Given the description of an element on the screen output the (x, y) to click on. 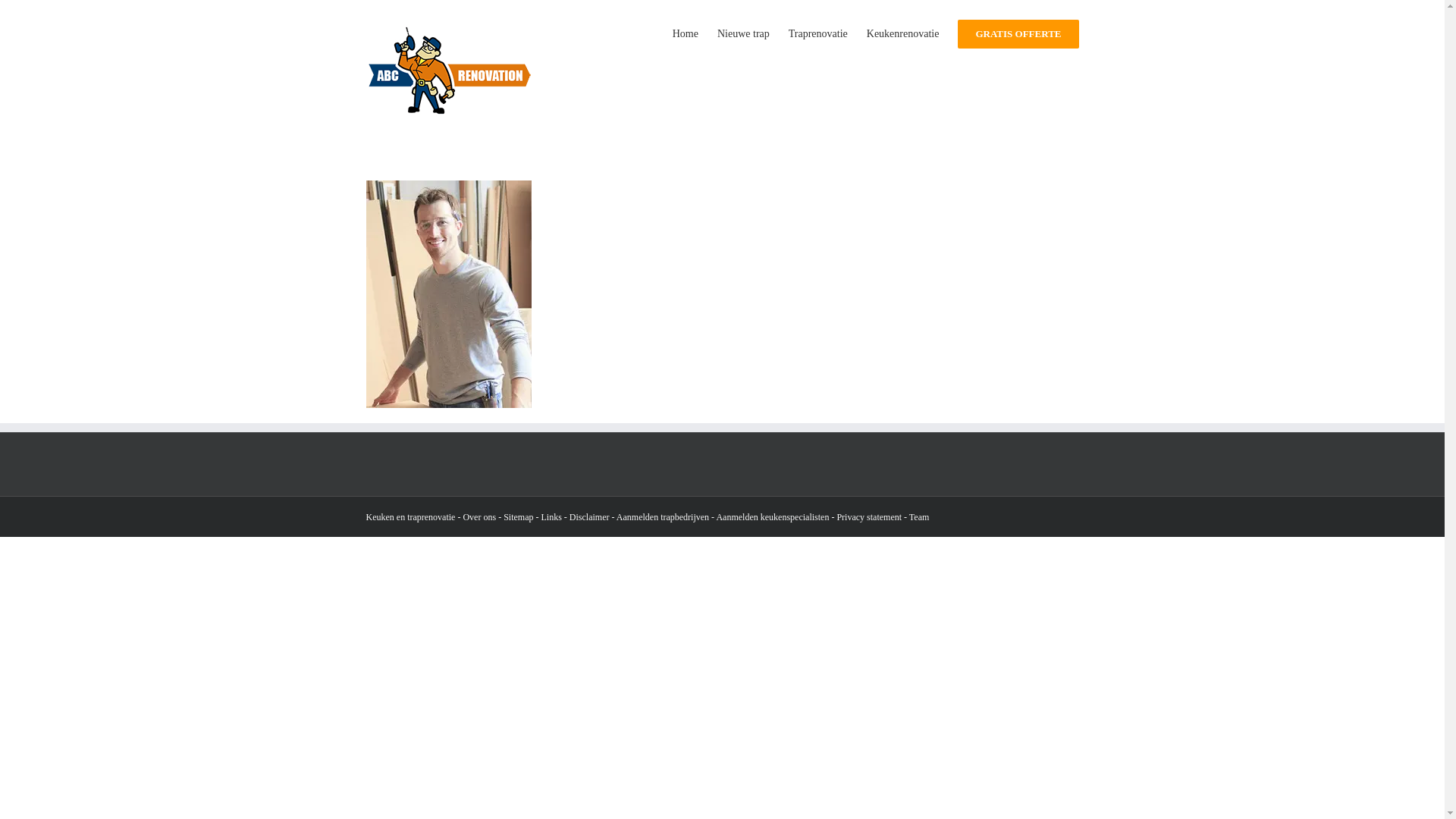
Aanmelden trapbedrijven Element type: text (662, 516)
map Element type: text (525, 516)
Nieuwe trap Element type: text (743, 32)
Site Element type: text (510, 516)
Team Element type: text (918, 516)
Aanmelden keukenspecialisten Element type: text (771, 516)
Traprenovatie Element type: text (817, 32)
Over ons Element type: text (478, 516)
GRATIS OFFERTE Element type: text (1017, 32)
Keukenrenovatie Element type: text (902, 32)
Home Element type: text (685, 32)
Privacy statement Element type: text (868, 516)
Links Element type: text (550, 516)
Disclaimer Element type: text (589, 516)
Keuken en traprenovatie Element type: text (410, 516)
